Given the description of an element on the screen output the (x, y) to click on. 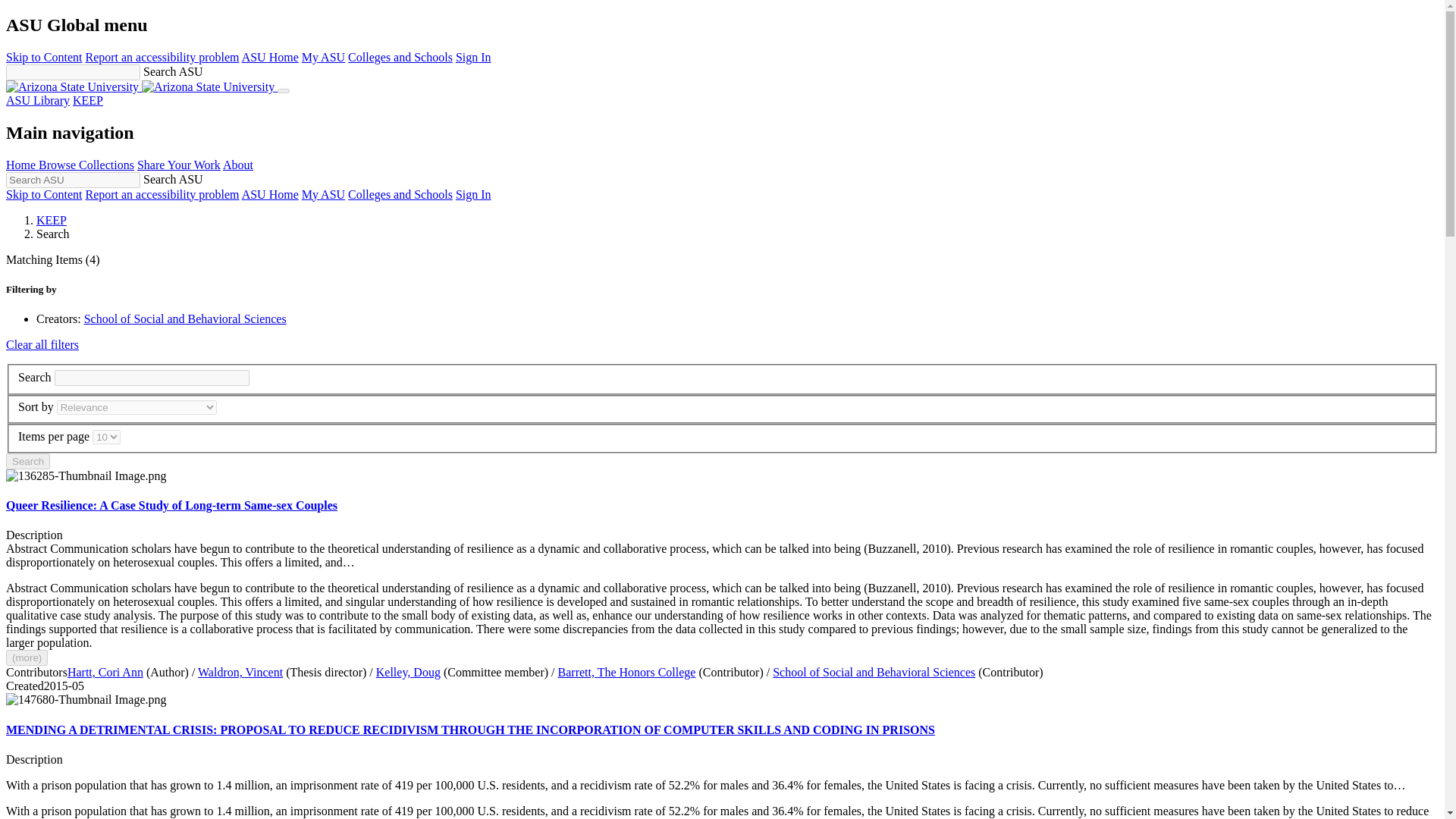
Screen reader link to the accessibility page (161, 56)
KEEP (87, 100)
Colleges and Schools (399, 56)
Screen reader link to the content (43, 56)
Home (141, 86)
Search (27, 461)
Barrett, The Honors College (626, 671)
Search ASU (72, 179)
Screen reader link to the accessibility page (161, 194)
ASU Home (269, 194)
Home (22, 164)
My ASU (323, 56)
Report an accessibility problem (161, 194)
ASU Home (269, 56)
